Given the description of an element on the screen output the (x, y) to click on. 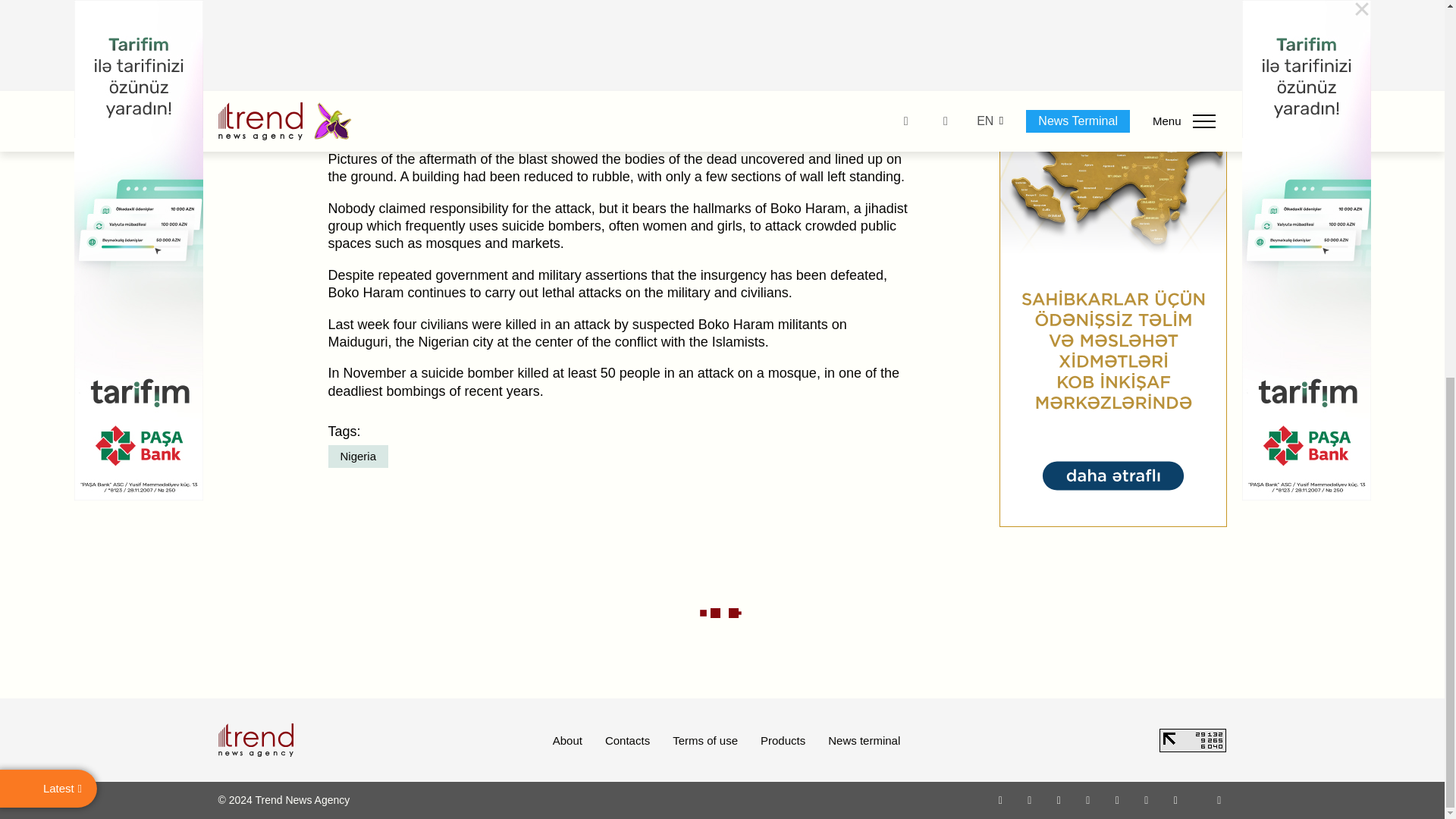
Facebook (1029, 799)
RSS Feed (1219, 799)
LinkedIn (1146, 799)
Telegram (1117, 799)
Android App (1176, 799)
Twitter (1059, 799)
Whatsapp (1000, 799)
Youtube (1088, 799)
